Given the description of an element on the screen output the (x, y) to click on. 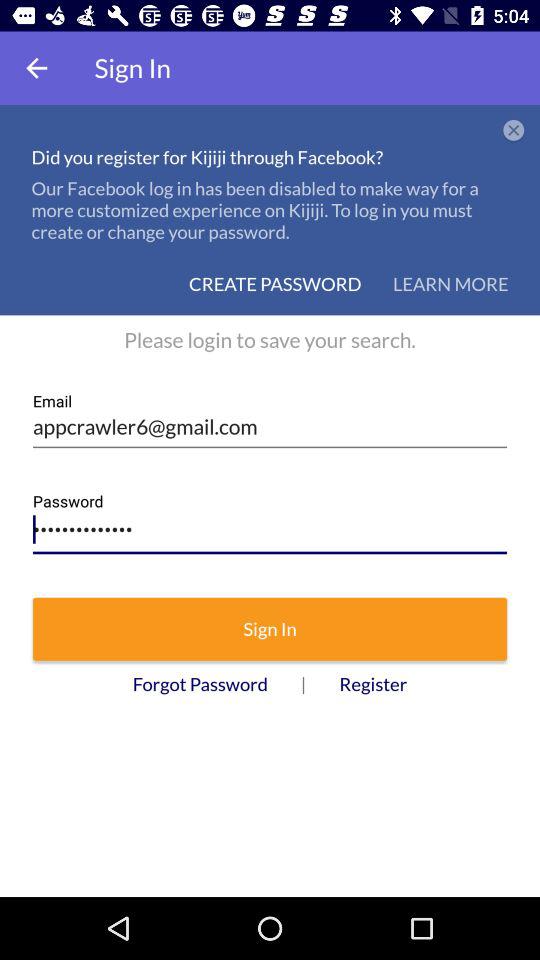
click the icon above please login to icon (450, 283)
